Given the description of an element on the screen output the (x, y) to click on. 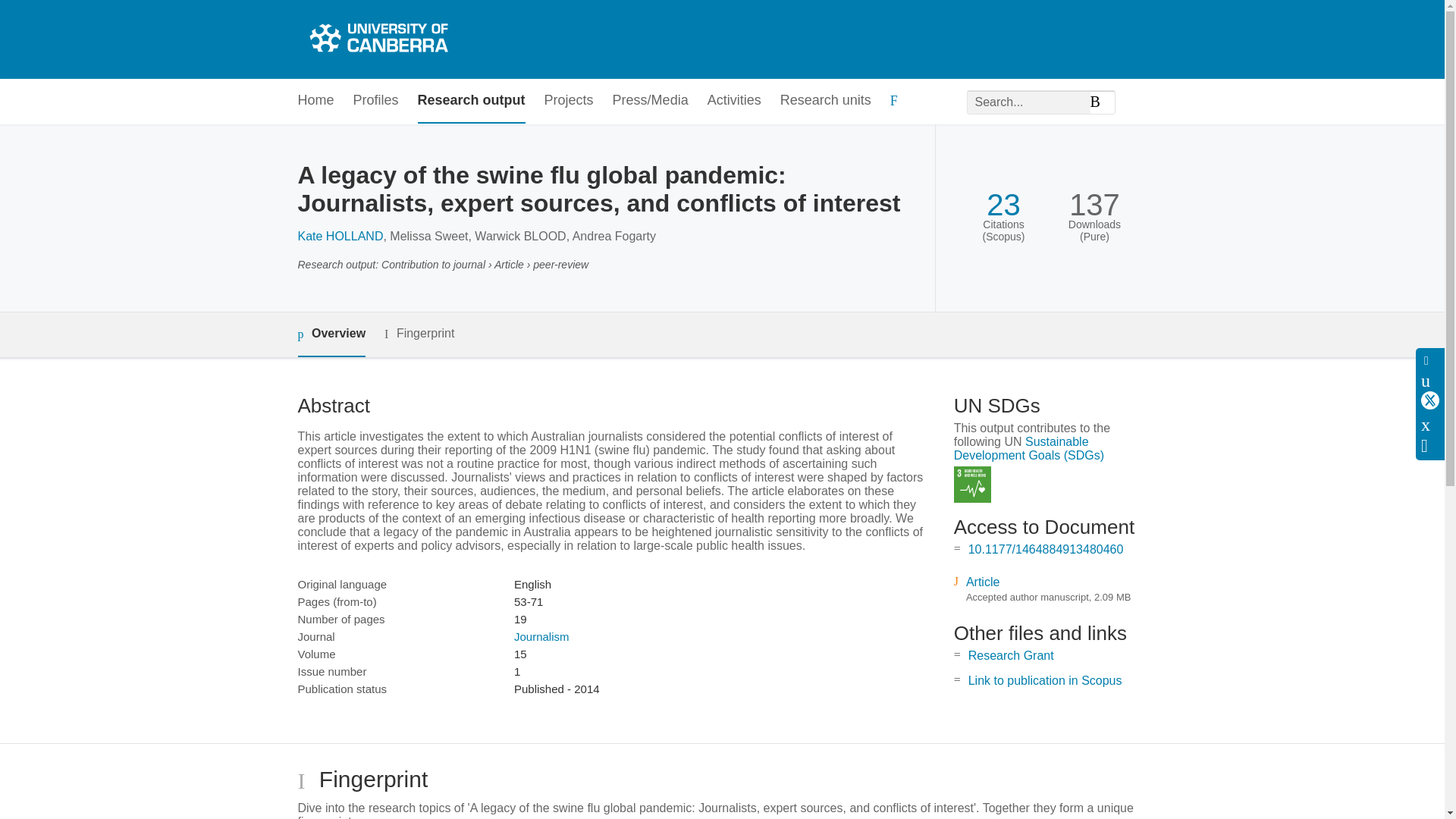
Link to publication in Scopus (1045, 680)
23 (1003, 204)
Activities (734, 100)
Projects (569, 100)
SDG 3 - Good Health and Well-being (972, 484)
Research output (471, 100)
Profiles (375, 100)
Fingerprint (419, 333)
Kate HOLLAND (339, 236)
Research Grant (1011, 655)
Article (982, 581)
Home (315, 100)
Overview (331, 334)
Research units (825, 100)
